Given the description of an element on the screen output the (x, y) to click on. 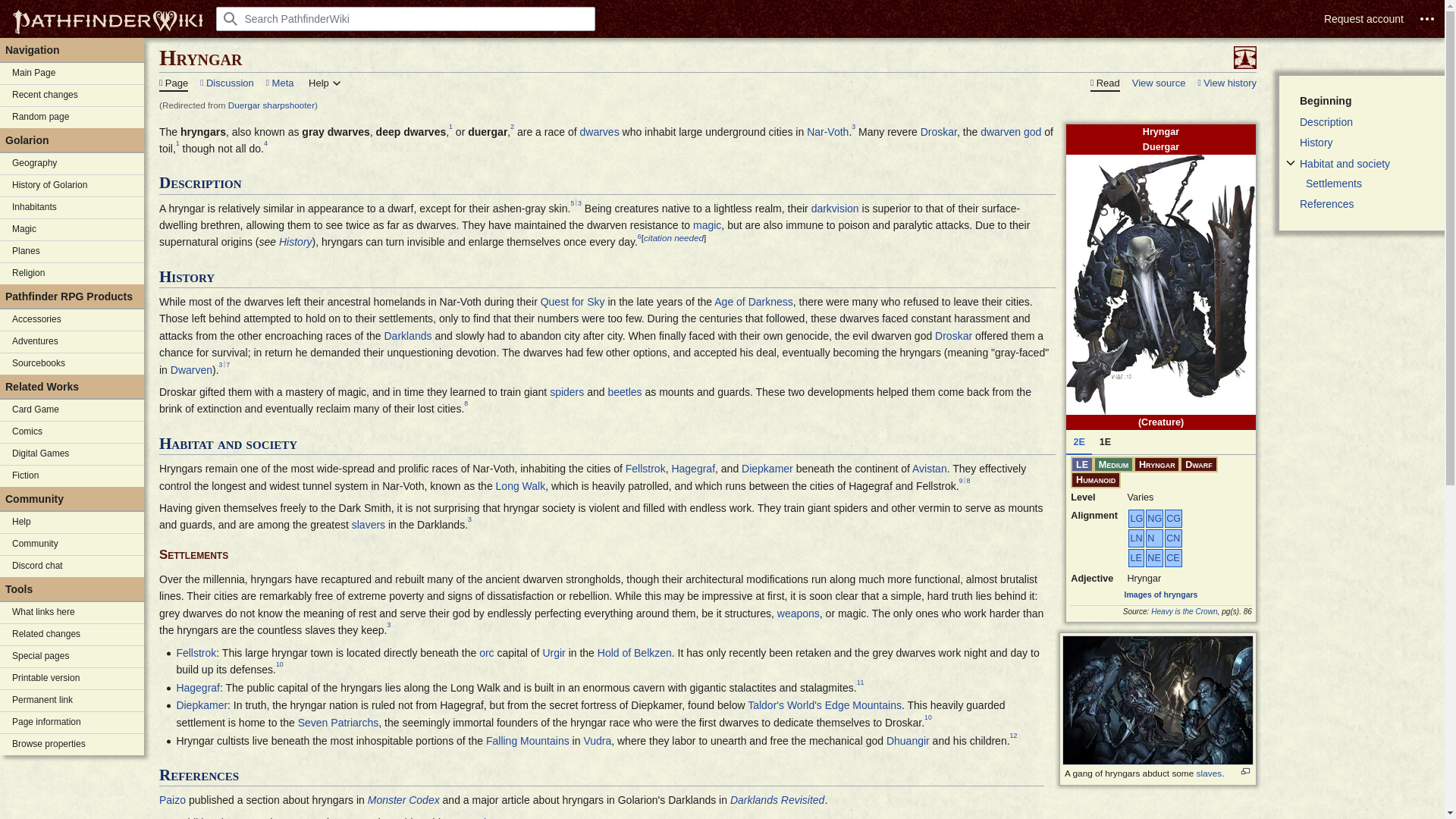
Search (230, 18)
Geography (72, 163)
Search (230, 18)
Sourcebooks (72, 363)
Discord chat (72, 566)
Recent changes (72, 95)
History of Golarion (72, 185)
Community (72, 544)
Related changes (72, 634)
Religion (72, 273)
